Given the description of an element on the screen output the (x, y) to click on. 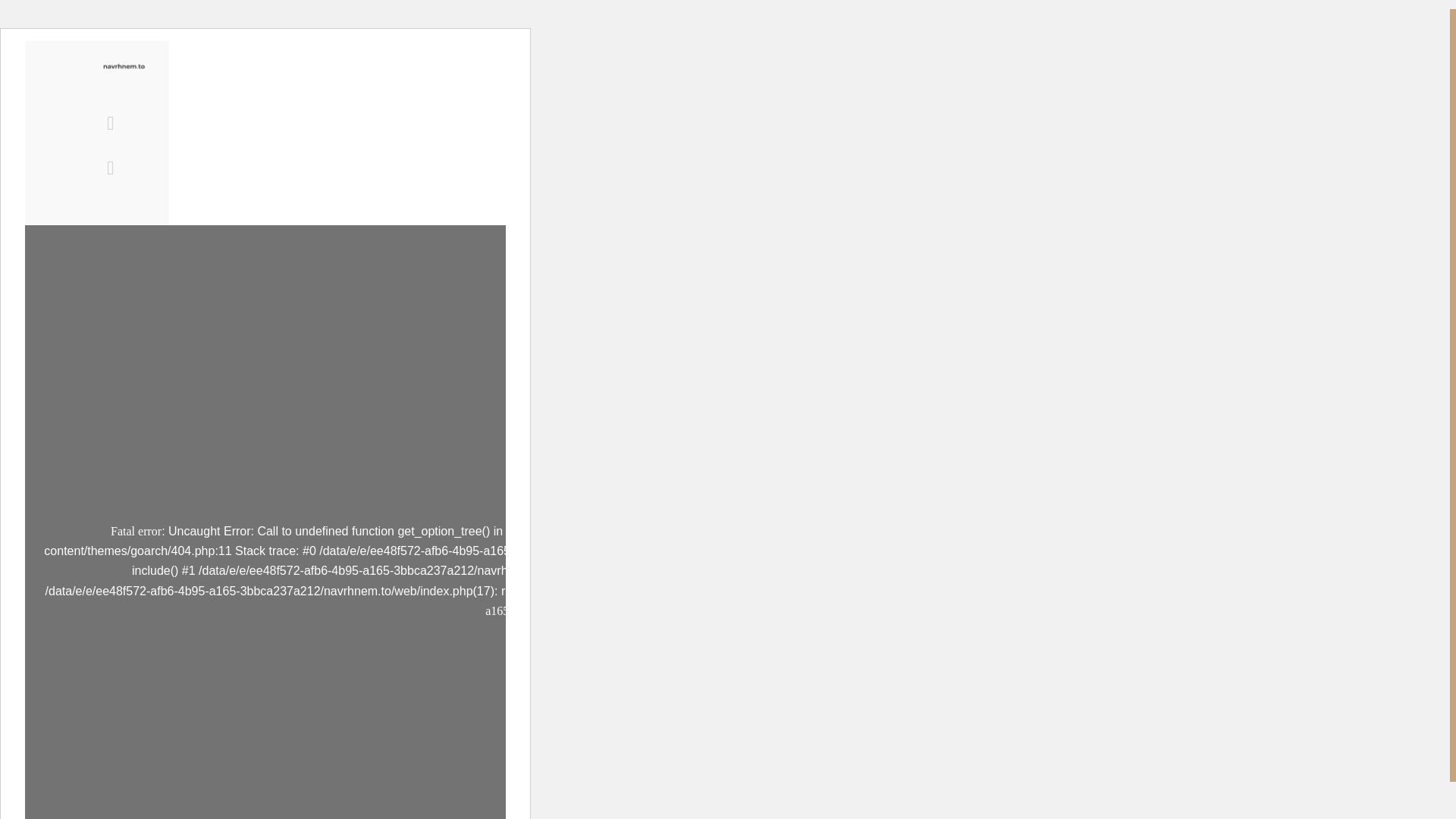
DOMOV (380, 80)
PROJEKTY (255, 115)
O NAS (456, 80)
NESIA (341, 115)
KONTAKT (423, 115)
